Given the description of an element on the screen output the (x, y) to click on. 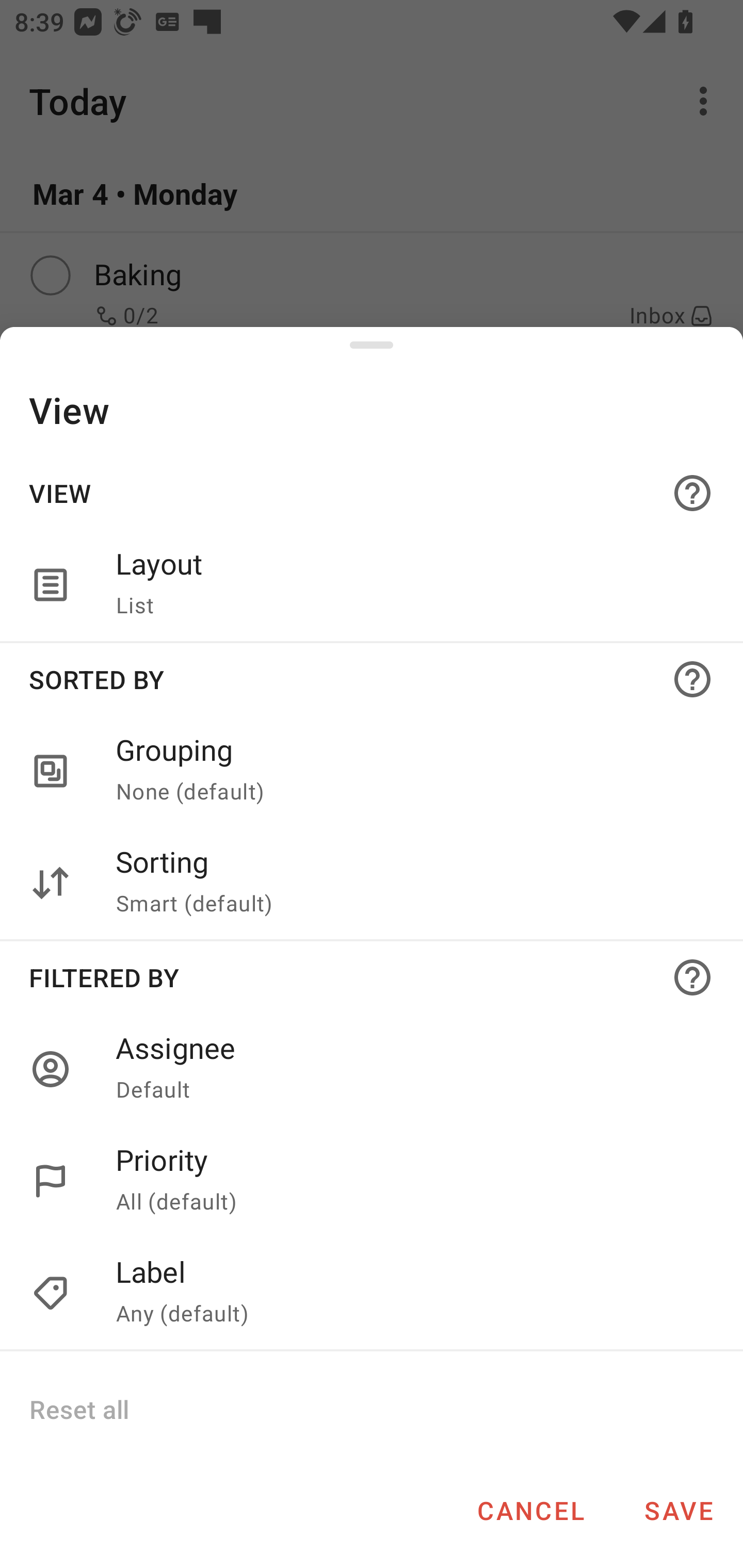
Layout List (371, 585)
Layout List (407, 585)
SORTED BY (371, 678)
Grouping None (default) (371, 771)
Grouping None (default) (407, 771)
Sorting Smart (default) (371, 883)
Sorting Smart (default) (407, 883)
FILTERED BY (371, 976)
Assignee Default (371, 1068)
Assignee Default (407, 1068)
Priority All (default) (371, 1181)
Priority All (default) (407, 1181)
Label Any (default) (371, 1293)
Label Any (default) (407, 1293)
Reset all (78, 1408)
CANCEL (530, 1510)
SAVE (678, 1510)
